Given the description of an element on the screen output the (x, y) to click on. 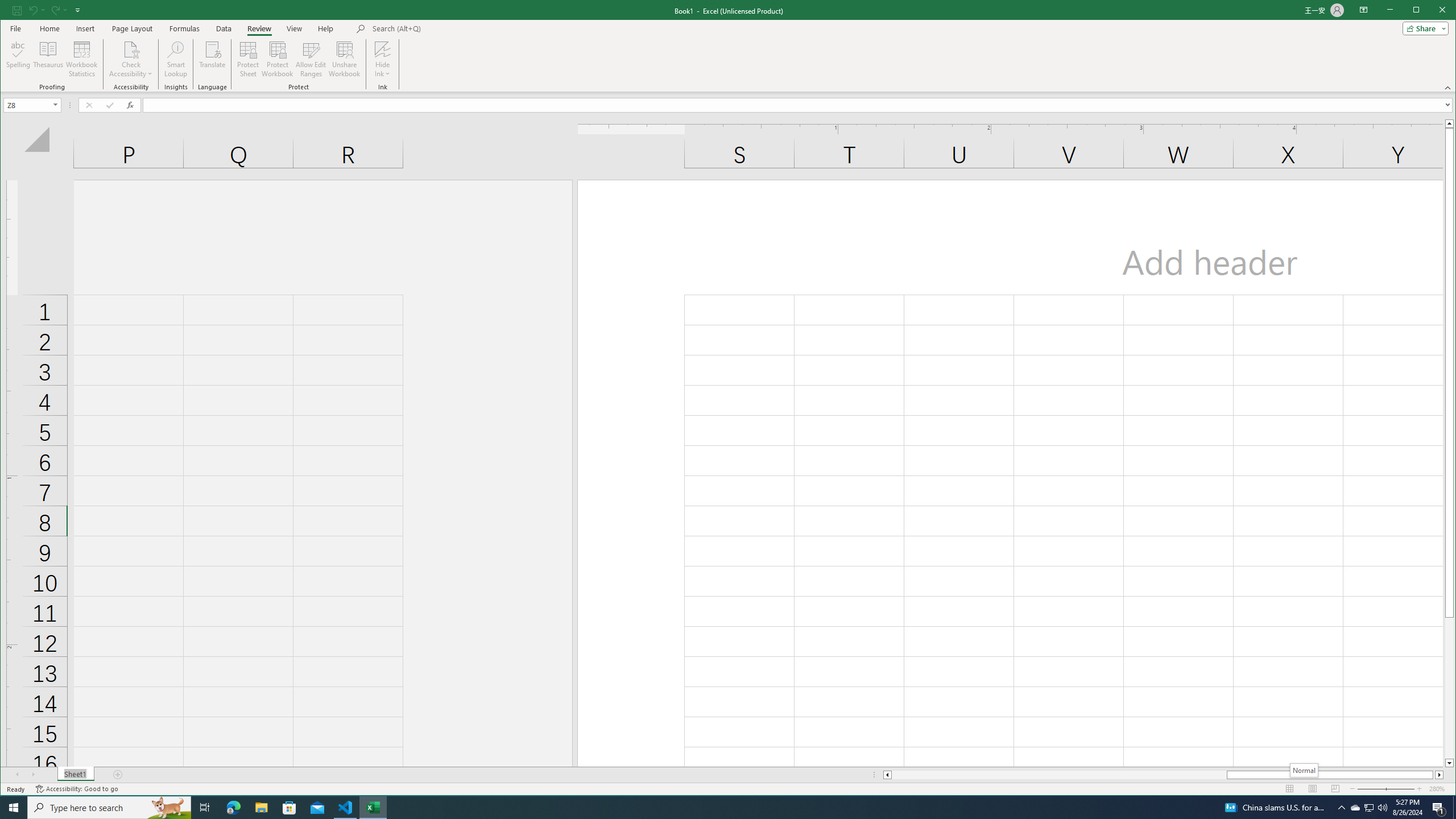
Translate (212, 59)
Show desktop (1454, 807)
